Given the description of an element on the screen output the (x, y) to click on. 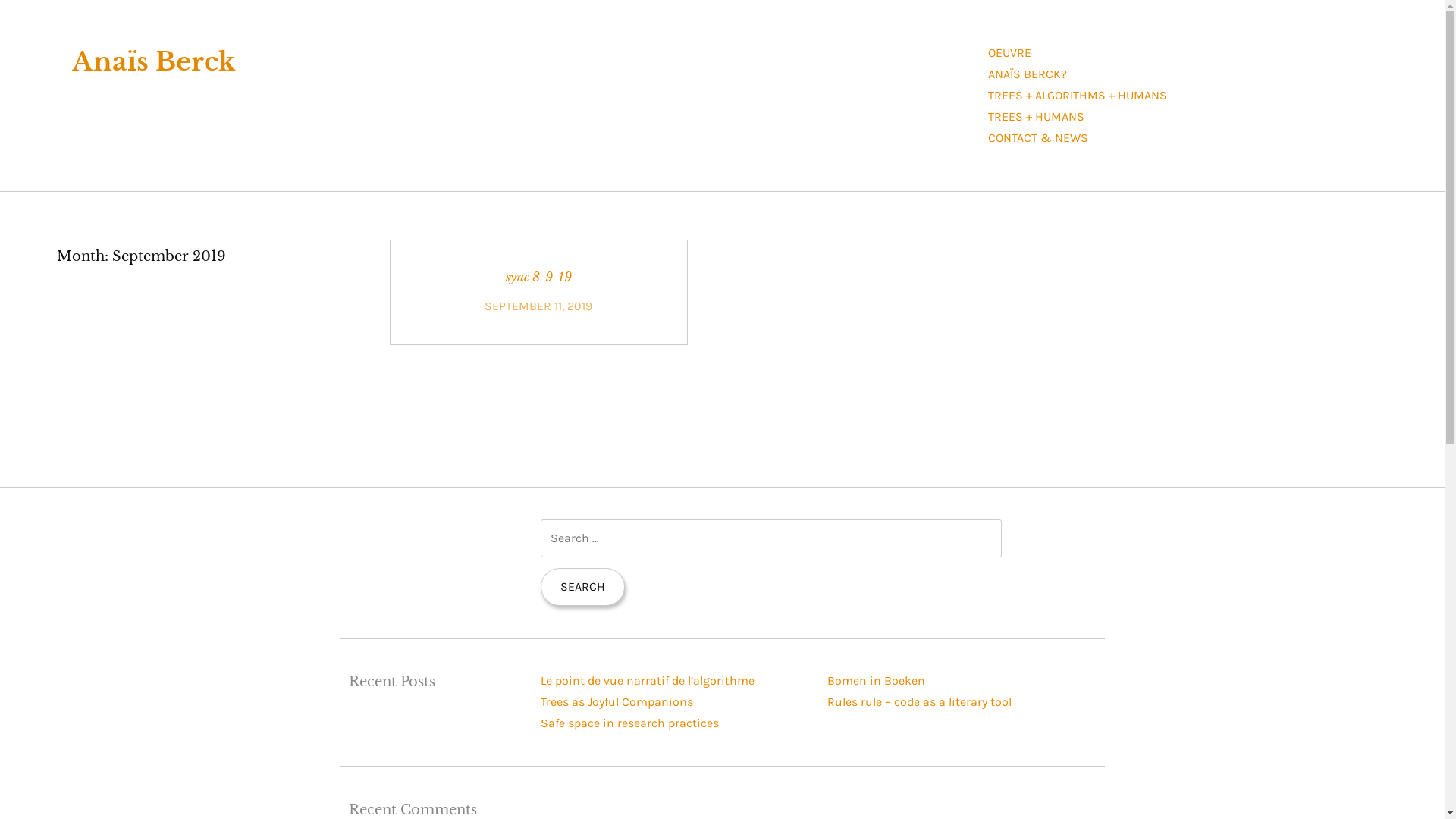
TREES + HUMANS Element type: text (1036, 116)
Trees as Joyful Companions Element type: text (616, 701)
Bomen in Boeken Element type: text (876, 680)
Proudly powered by WordPress Element type: text (362, 775)
CONTACT & NEWS Element type: text (1038, 137)
TREES + ALGORITHMS + HUMANS Element type: text (1077, 95)
WordPress.com Element type: text (610, 775)
sync 8-9-19
SEPTEMBER 11, 2019 Element type: text (538, 292)
Search Element type: text (582, 586)
Safe space in research practices Element type: text (629, 722)
OEUVRE Element type: text (1009, 52)
